Given the description of an element on the screen output the (x, y) to click on. 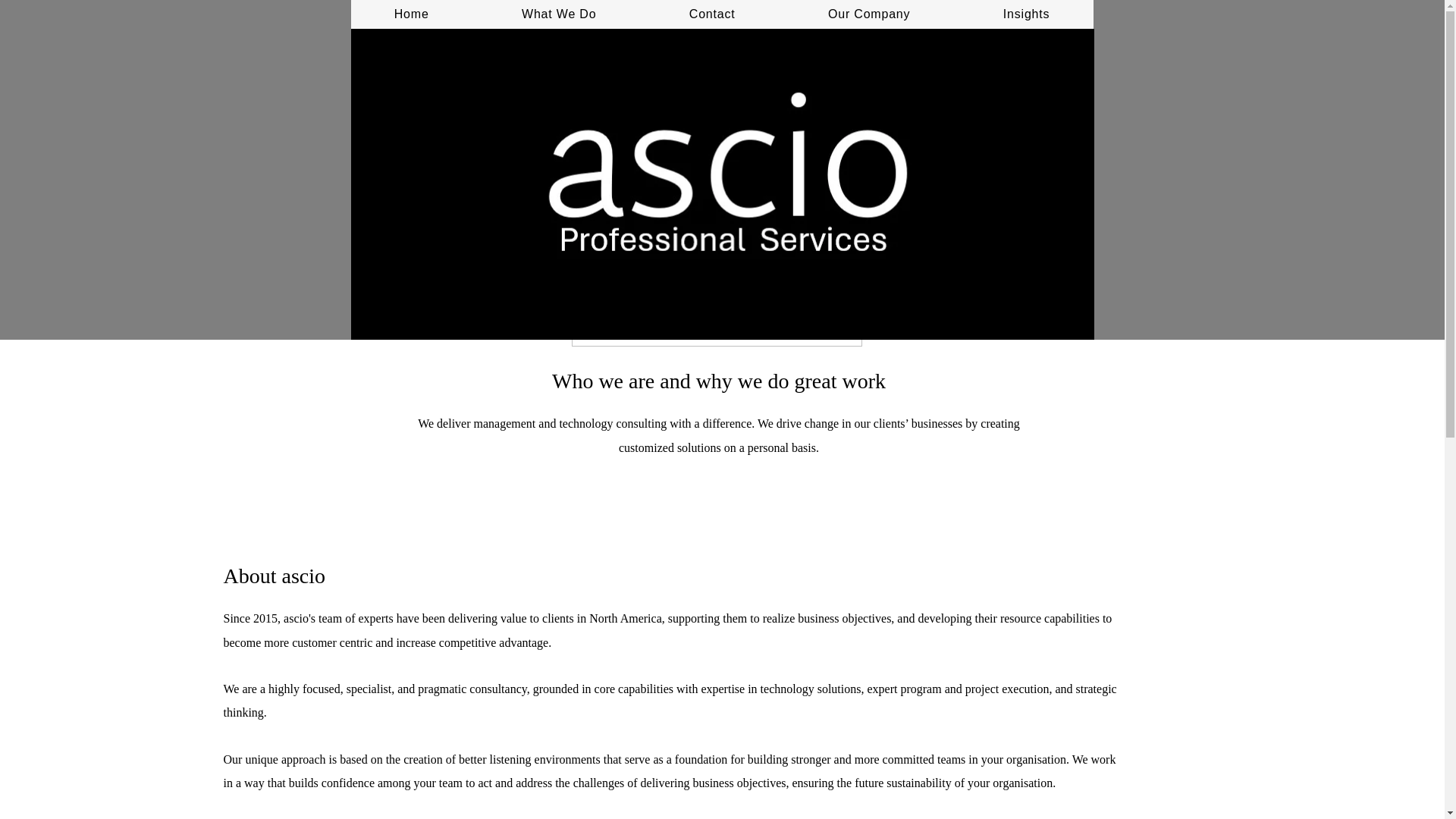
Contact (712, 14)
Home (410, 14)
What We Do (559, 14)
Our Company (868, 14)
Insights (1026, 14)
